Given the description of an element on the screen output the (x, y) to click on. 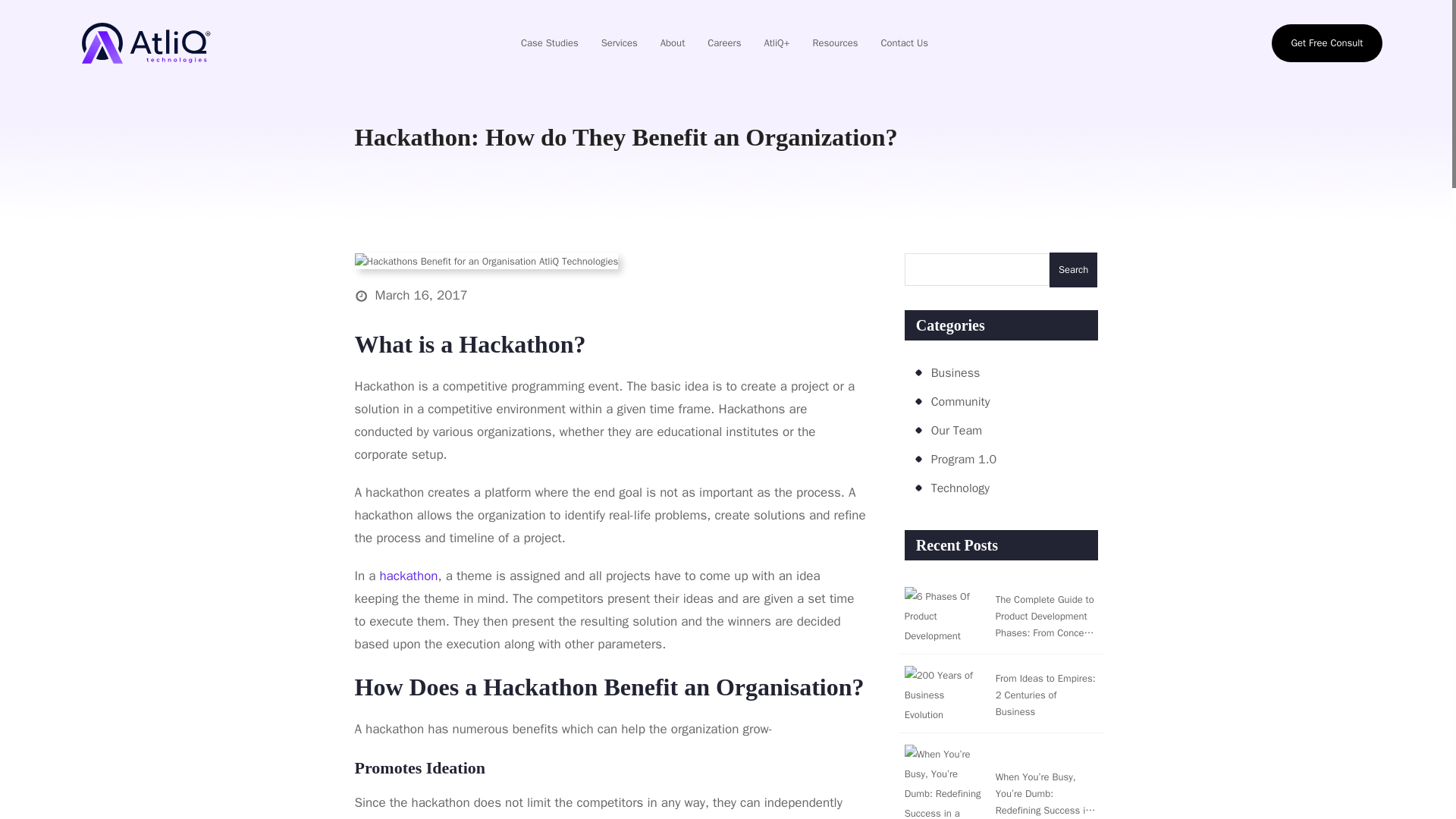
Community (960, 401)
Business (955, 372)
Careers (723, 43)
Resources (834, 43)
Program 1.0 (963, 459)
Search (1073, 269)
Our Team (956, 430)
Contact Us (904, 43)
Get Free Consult (1326, 43)
Case Studies (549, 43)
Technology (960, 488)
About (672, 43)
hackathon (408, 575)
Services (619, 43)
